Given the description of an element on the screen output the (x, y) to click on. 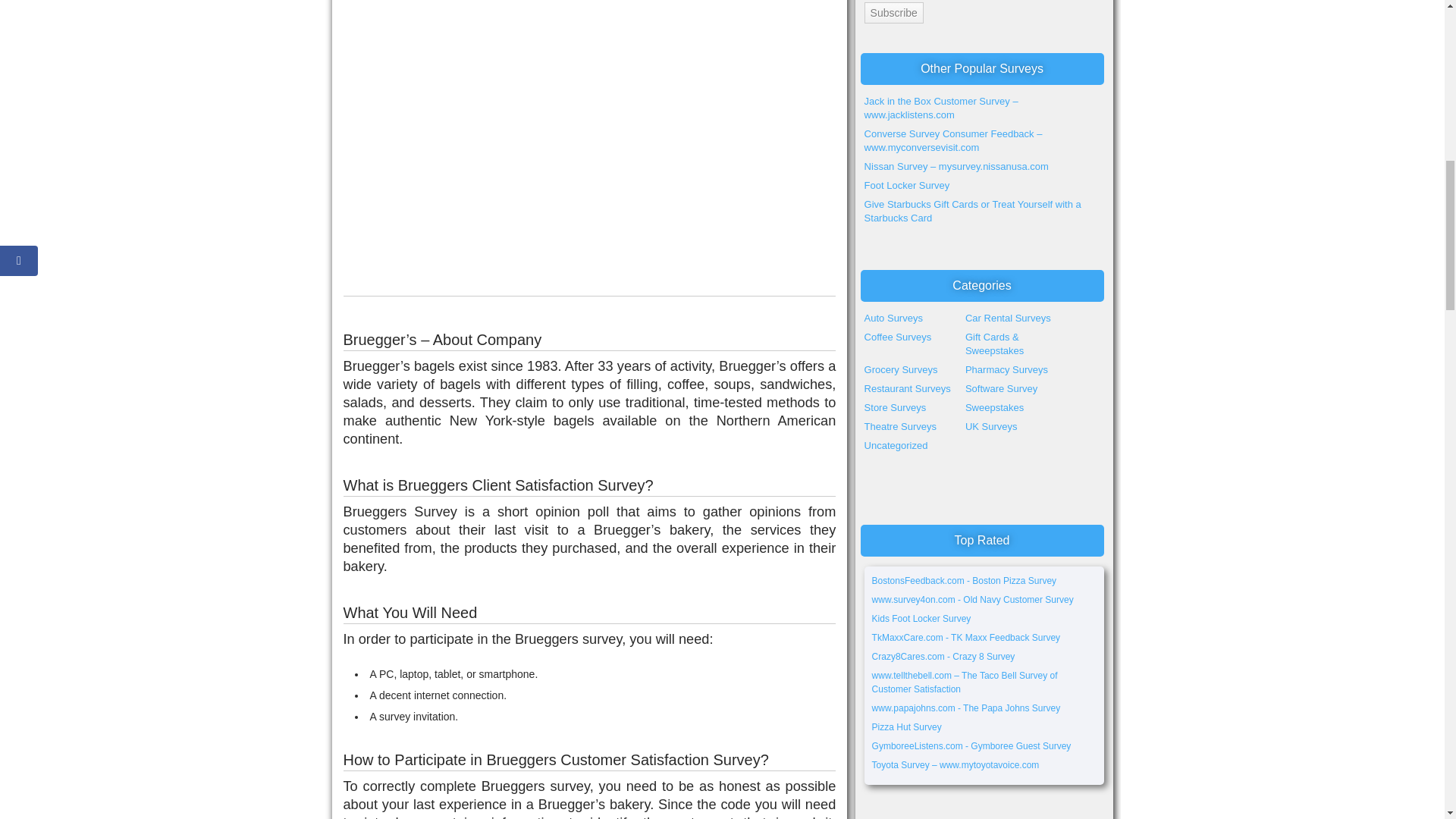
Subscribe (893, 12)
Subscribe (893, 12)
Foot Locker Survey (907, 184)
